Given the description of an element on the screen output the (x, y) to click on. 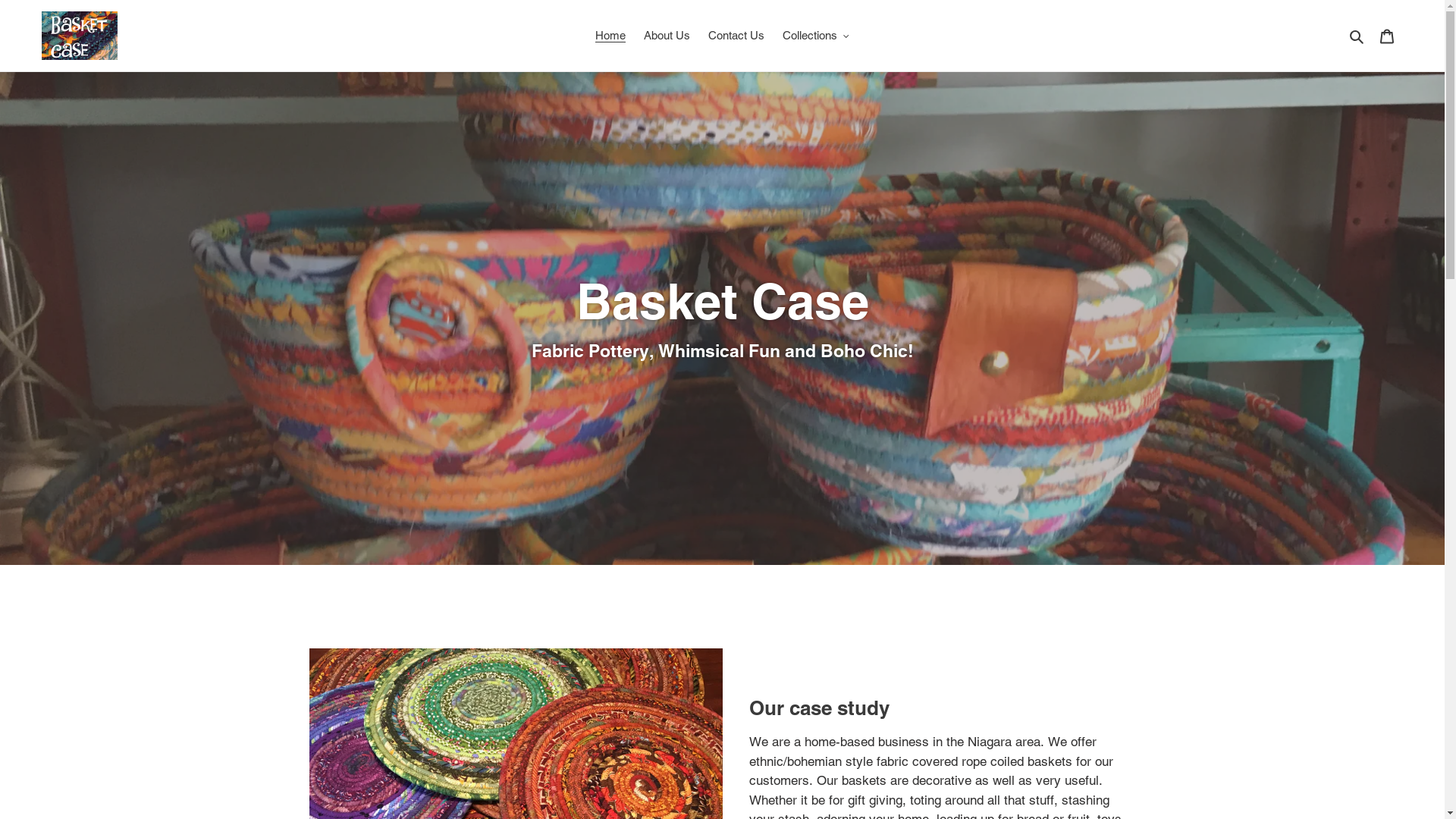
Search Element type: text (1357, 35)
Contact Us Element type: text (735, 36)
Cart Element type: text (1386, 35)
Home Element type: text (610, 36)
About Us Element type: text (666, 36)
Collections Element type: text (815, 36)
